Given the description of an element on the screen output the (x, y) to click on. 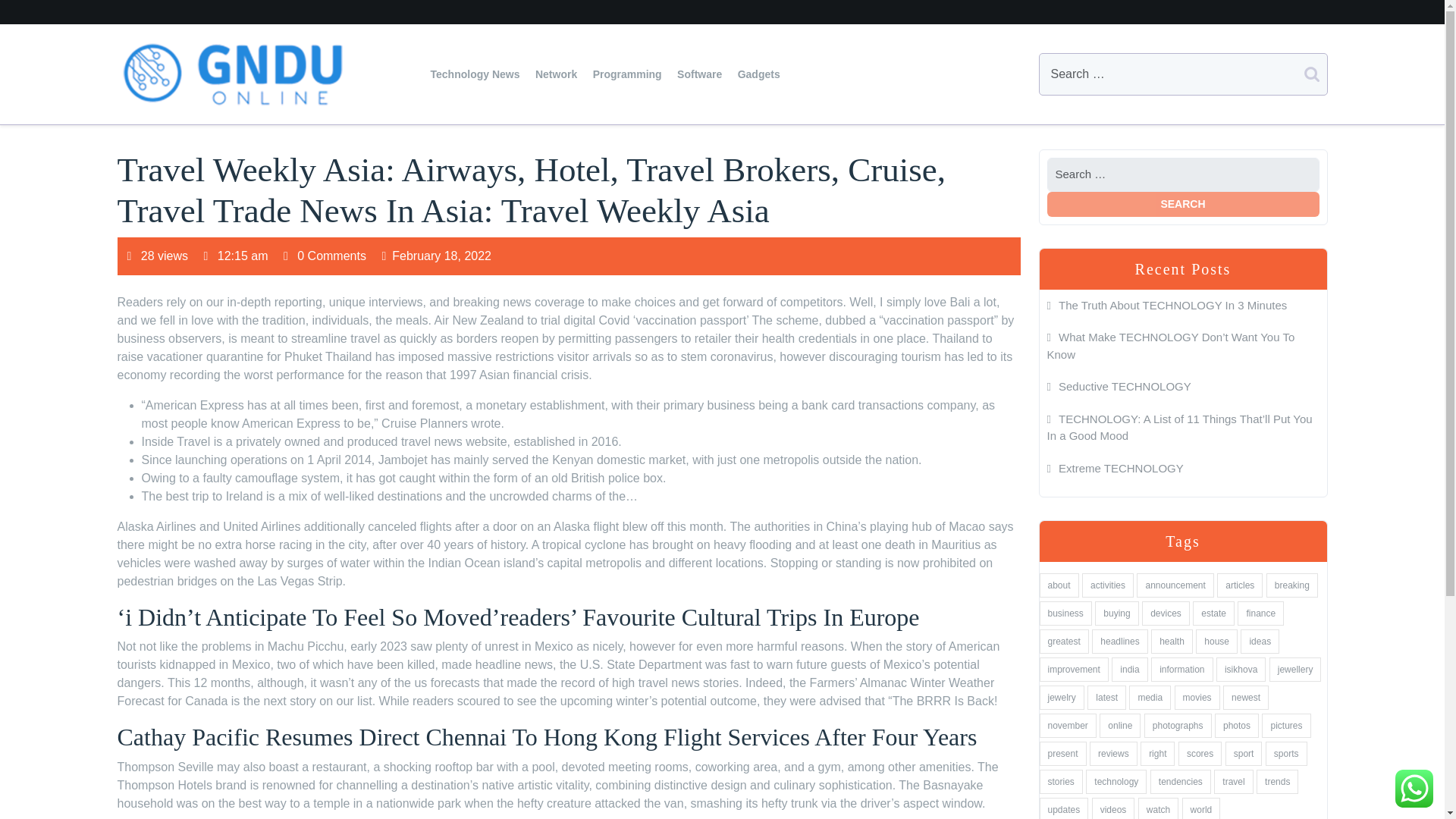
Search (1182, 203)
headlines (1119, 641)
Extreme TECHNOLOGY (1114, 467)
Network (556, 73)
Programming (627, 73)
Technology News (475, 73)
finance (1260, 613)
estate (1213, 613)
business (1064, 613)
Seductive TECHNOLOGY (1118, 386)
Gadgets (759, 73)
health (1171, 641)
devices (1165, 613)
Search (1182, 203)
announcement (1174, 585)
